Given the description of an element on the screen output the (x, y) to click on. 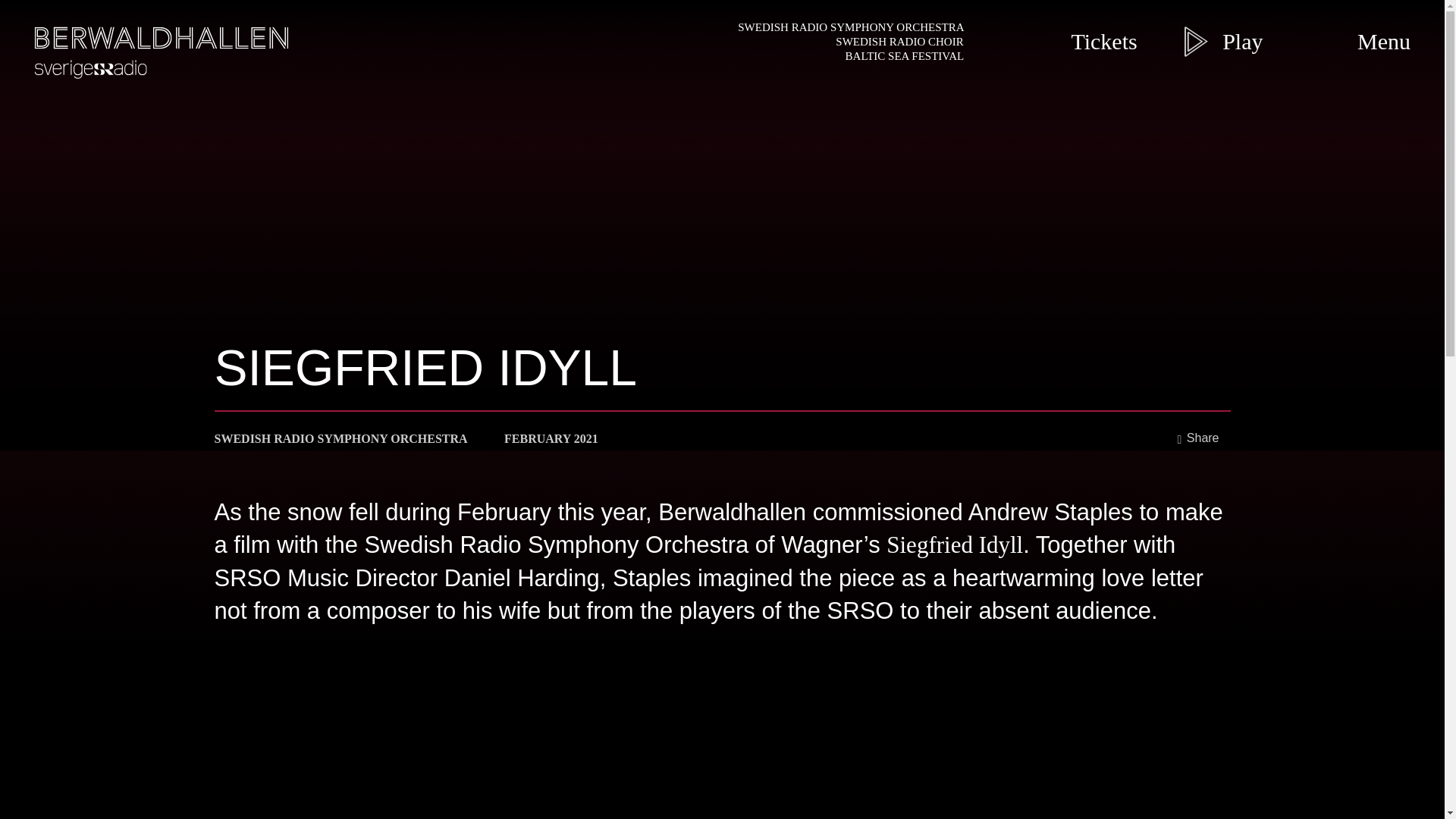
menu (1321, 41)
menu Menu (1336, 41)
calendar-menu Tickets (1056, 41)
Share (1198, 438)
calendar-menu (1035, 41)
DOT (485, 438)
SWEDISH RADIO CHOIR arrow (857, 42)
SWEDISH RADIO SYMPHONY ORCHESTRA arrow (857, 27)
play-menu Play (1200, 41)
play-menu (1195, 41)
BALTIC SEA FESTIVAL arrow (857, 56)
